Given the description of an element on the screen output the (x, y) to click on. 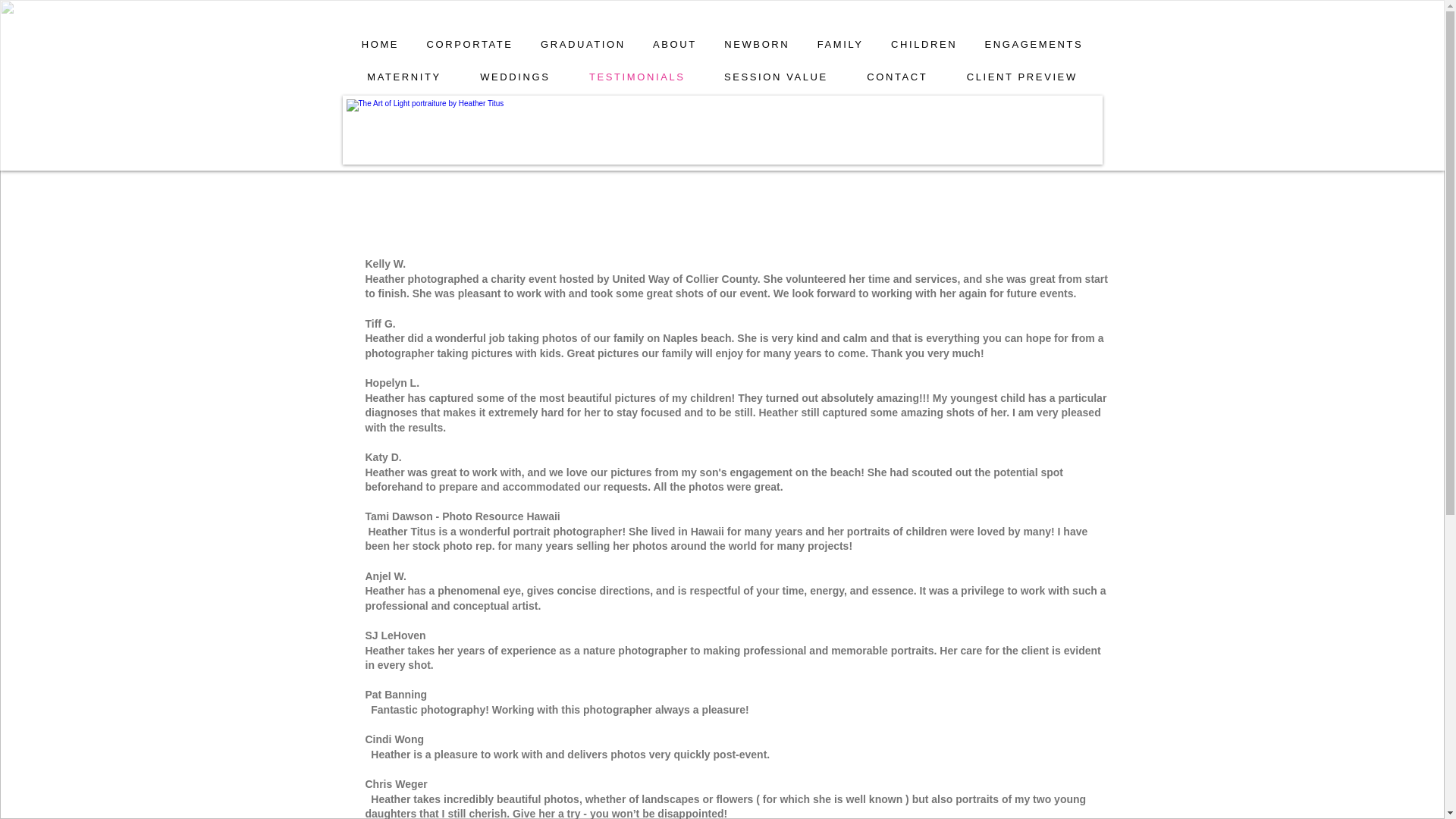
TESTIMONIALS (636, 76)
FAMILY (840, 44)
GRADUATION (582, 44)
ABOUT (674, 44)
ENGAGEMENTS (1033, 44)
CONTACT (897, 76)
SESSION VALUE (775, 76)
CLIENT PREVIEW (1021, 76)
WEDDINGS (515, 76)
MATERNITY (403, 76)
